Given the description of an element on the screen output the (x, y) to click on. 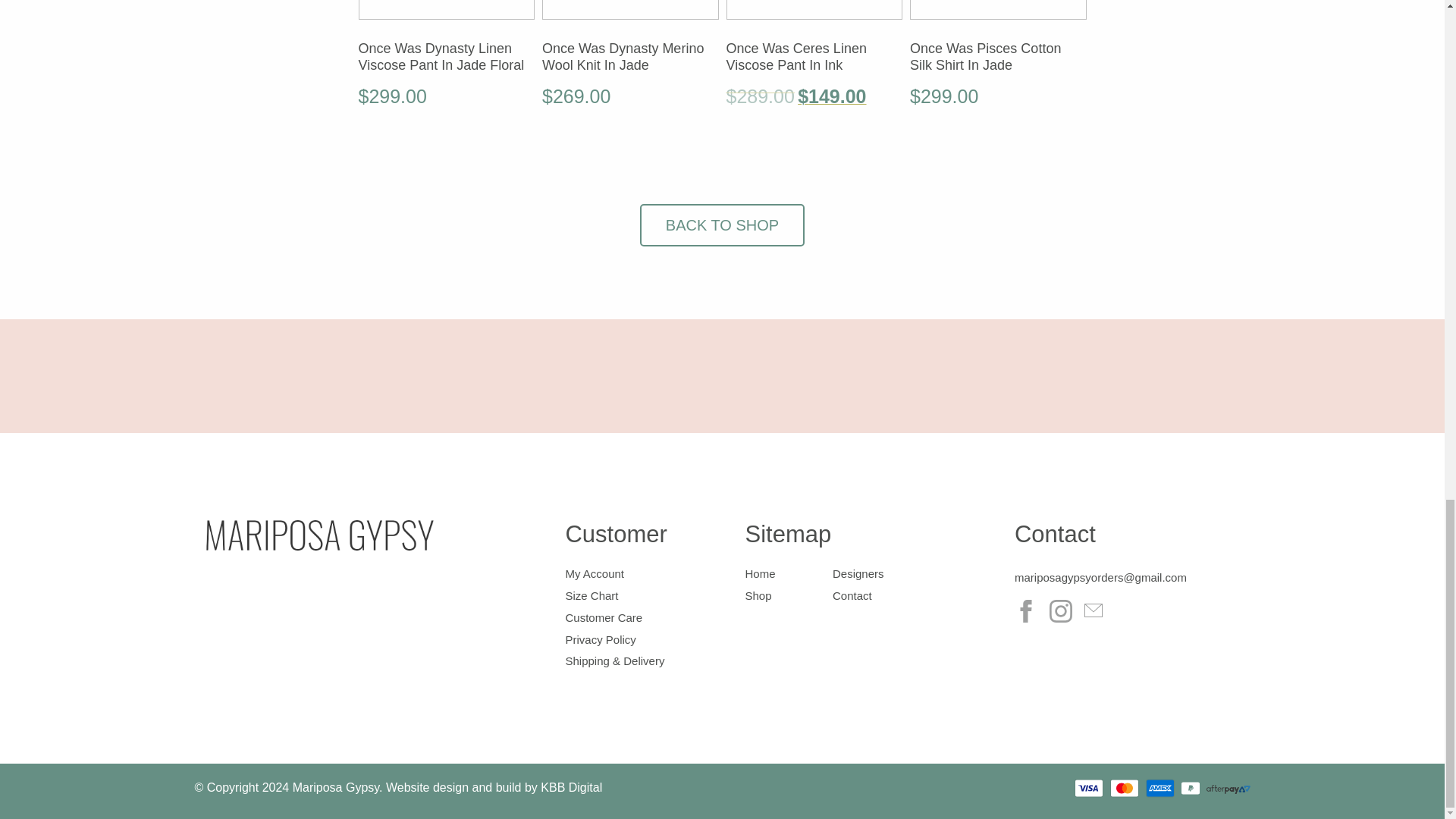
Visa (1088, 787)
American Express (1159, 787)
Mastercard (1123, 787)
